Given the description of an element on the screen output the (x, y) to click on. 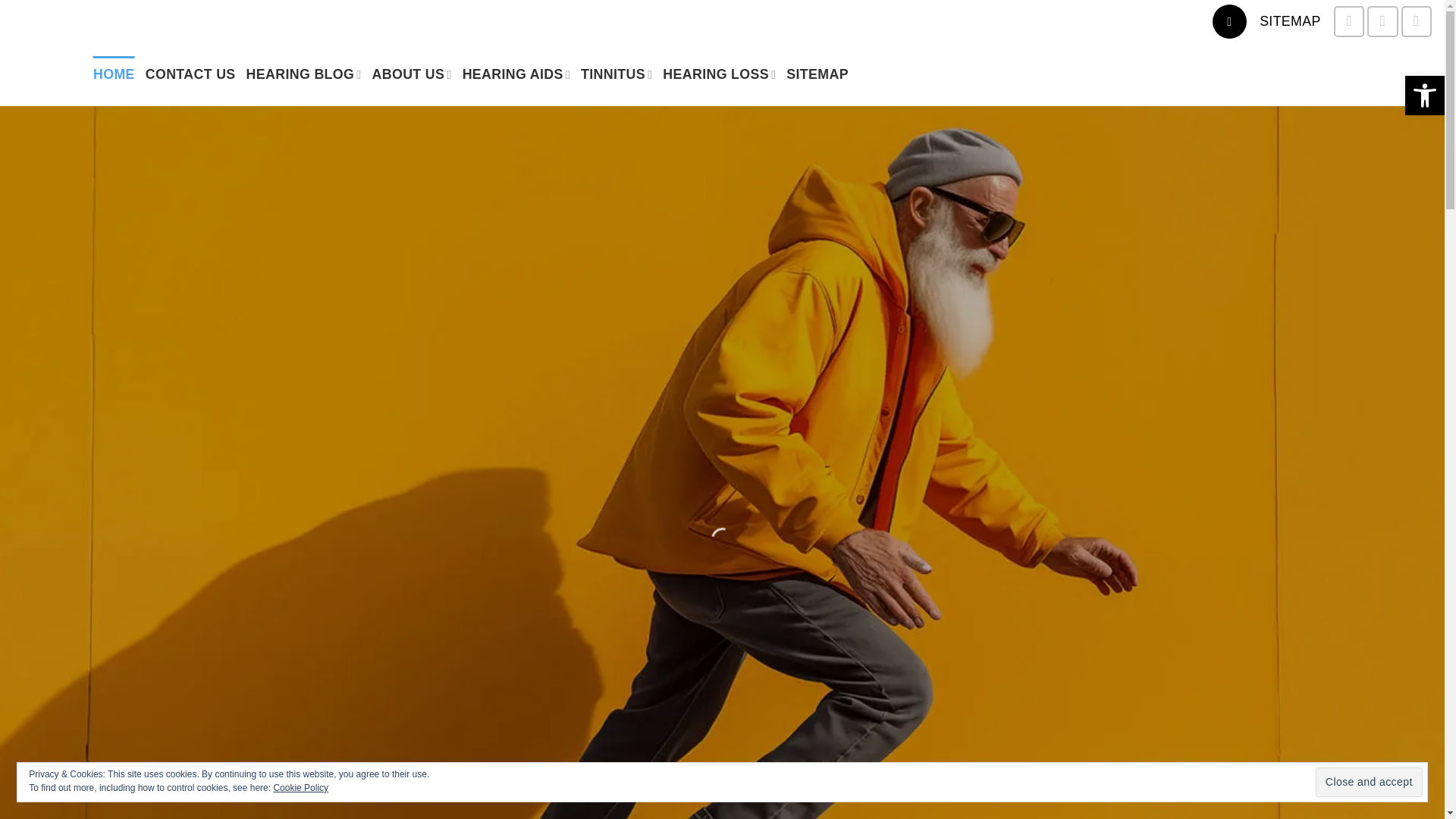
Brampton Audiology - Hearing Health (40, 74)
Follow on LinkedIn (1415, 20)
Accessibility Tools (1424, 95)
Call us (1382, 20)
SITEMAP (1289, 21)
Close and accept (1369, 781)
Send us an email (1348, 20)
